Given the description of an element on the screen output the (x, y) to click on. 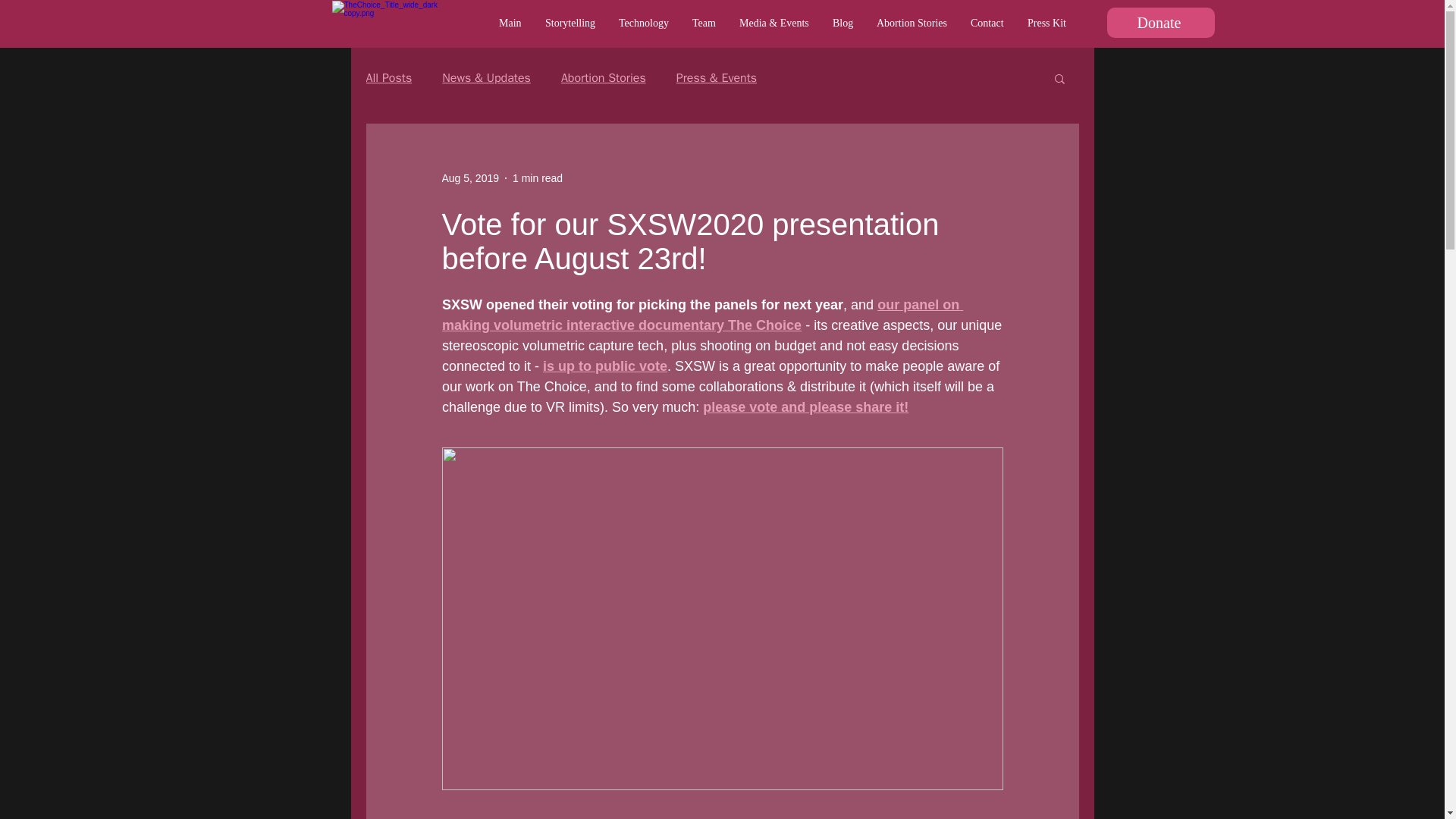
Main (509, 23)
Abortion Stories (911, 23)
Team (703, 23)
Contact (986, 23)
is up to public vote (604, 365)
Technology (643, 23)
Blog (842, 23)
Storytelling (570, 23)
1 min read (537, 177)
